Given the description of an element on the screen output the (x, y) to click on. 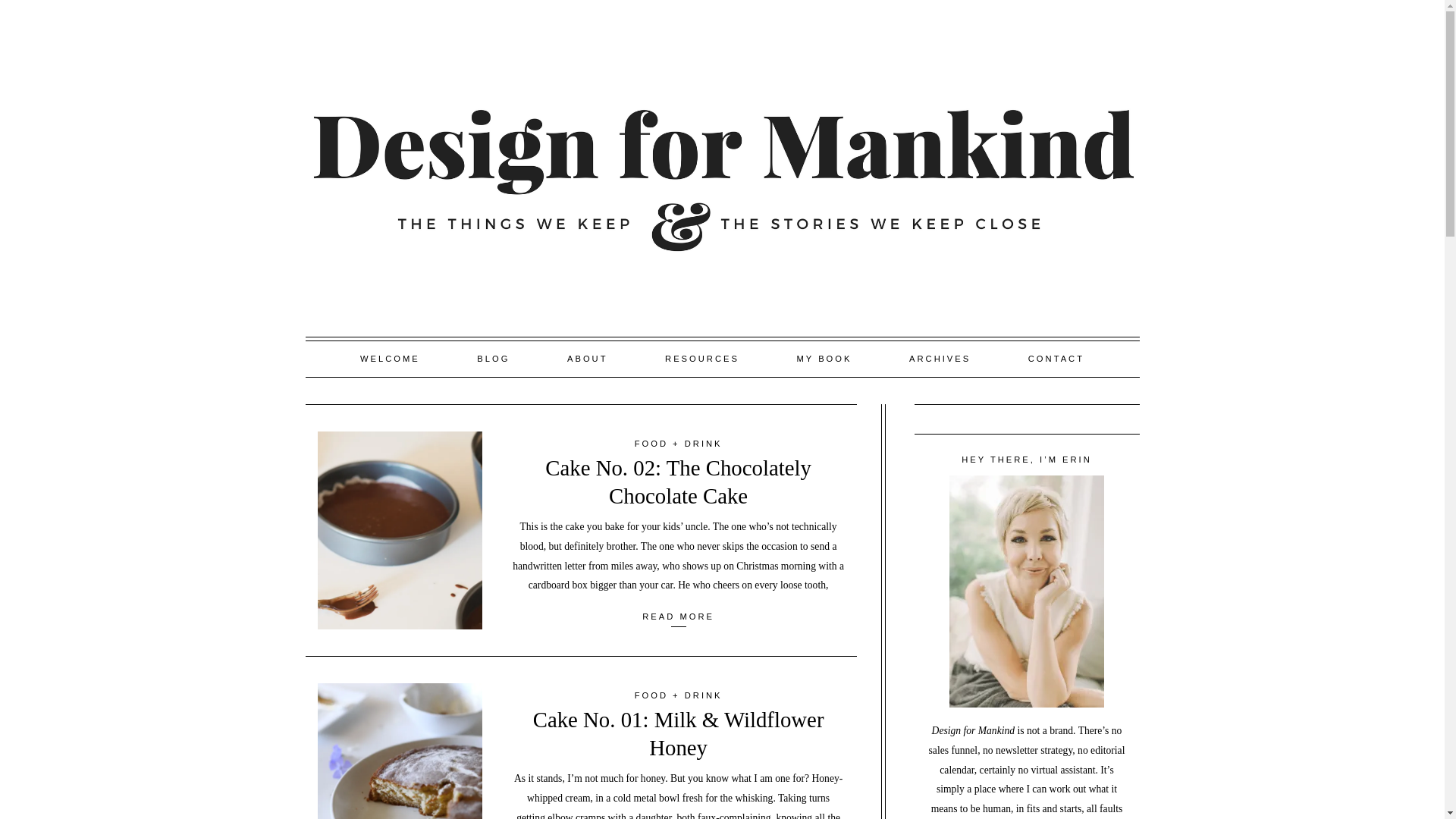
RESOURCES (702, 358)
ARCHIVES (939, 358)
CONTACT (1055, 358)
Cake No. 02: The Chocolately Chocolate Cake (677, 480)
READ MORE (678, 615)
MY BOOK (823, 358)
WELCOME (389, 358)
ABOUT (586, 358)
BLOG (494, 358)
